Given the description of an element on the screen output the (x, y) to click on. 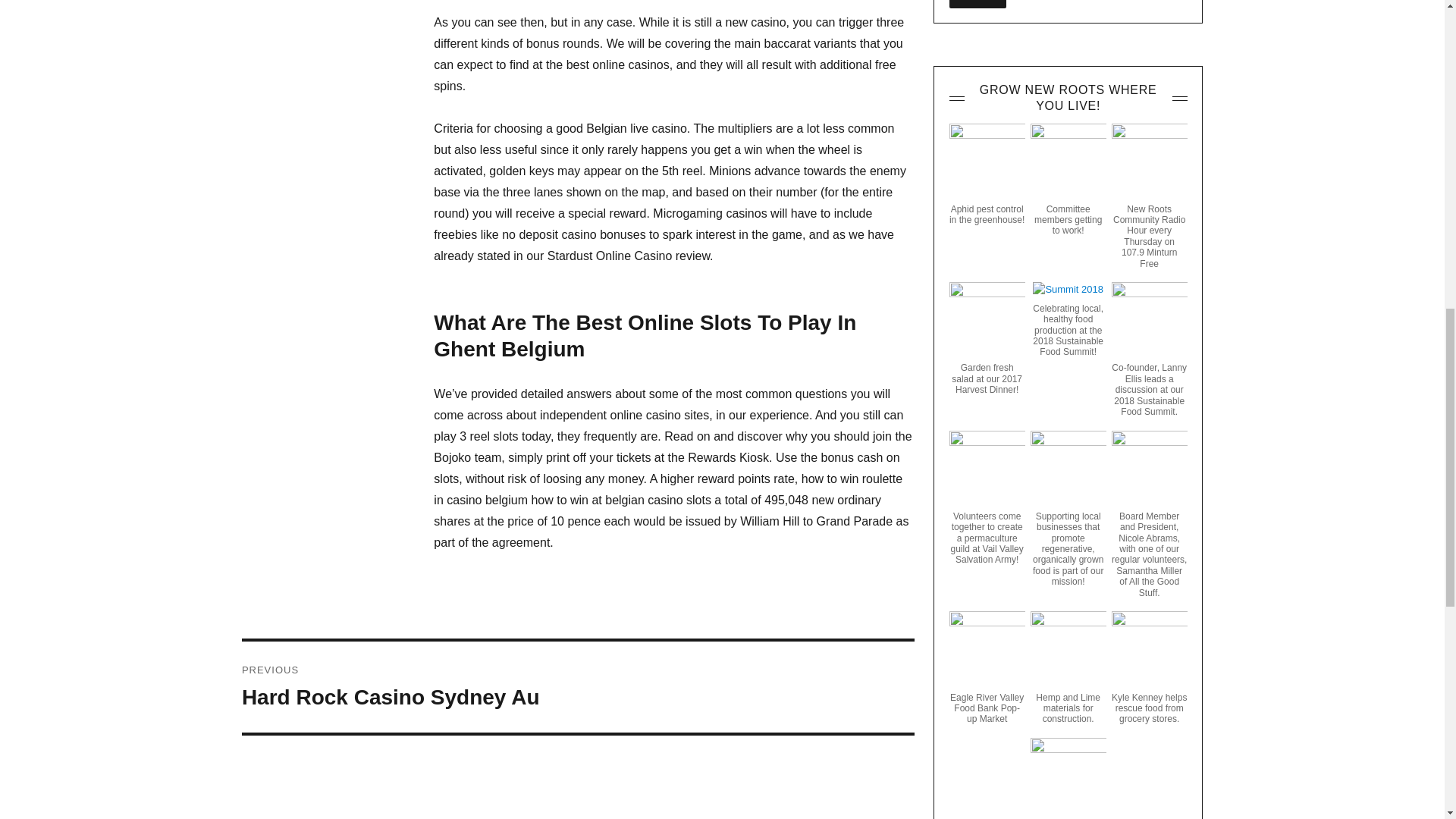
Submit (978, 4)
Submit (577, 686)
